Given the description of an element on the screen output the (x, y) to click on. 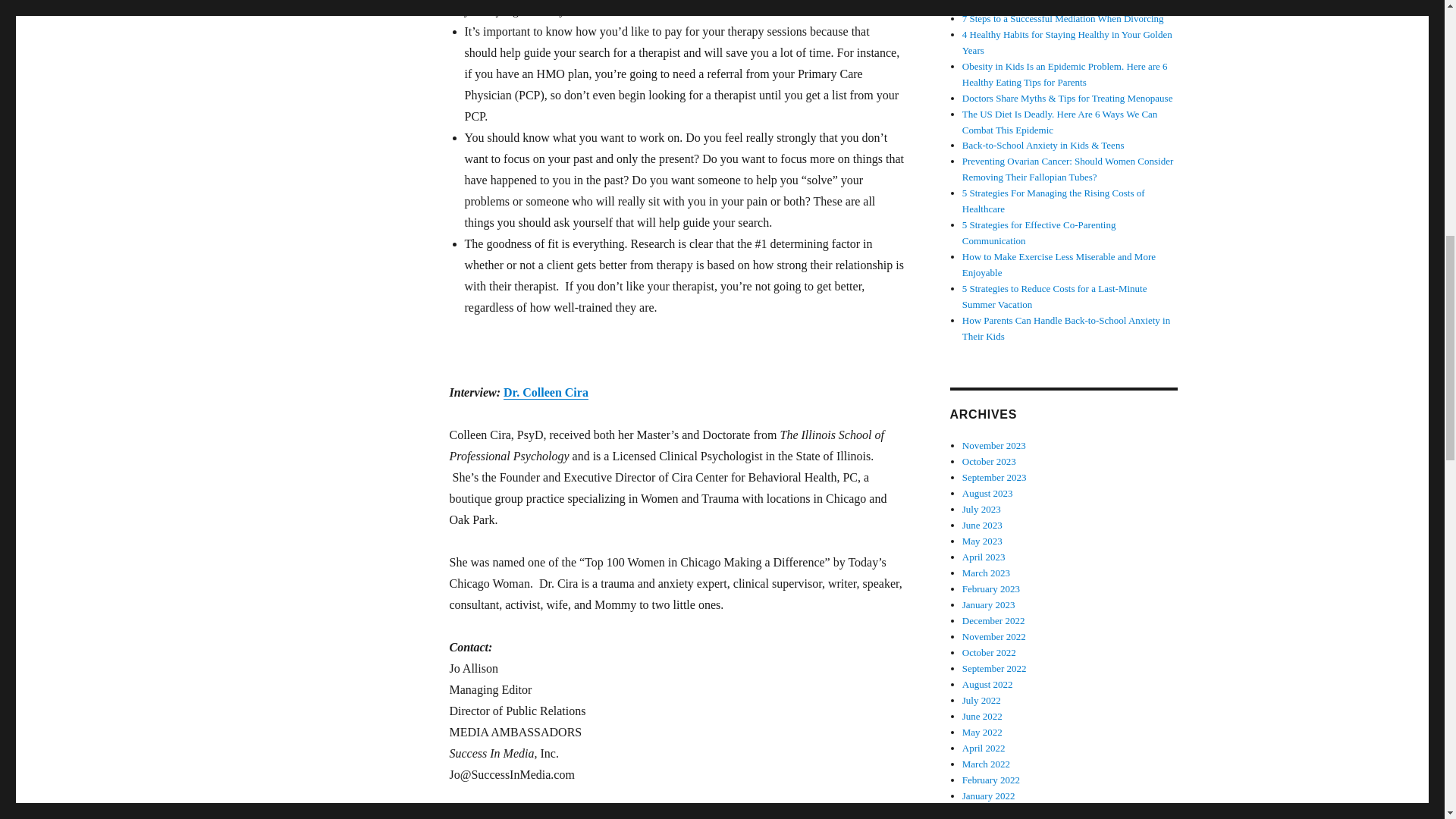
4 Healthy Habits for Staying Healthy in Your Golden Years (1067, 42)
Dr. Colleen Cira (545, 391)
7 Steps to a Successful Mediation When Divorcing (1062, 18)
